Given the description of an element on the screen output the (x, y) to click on. 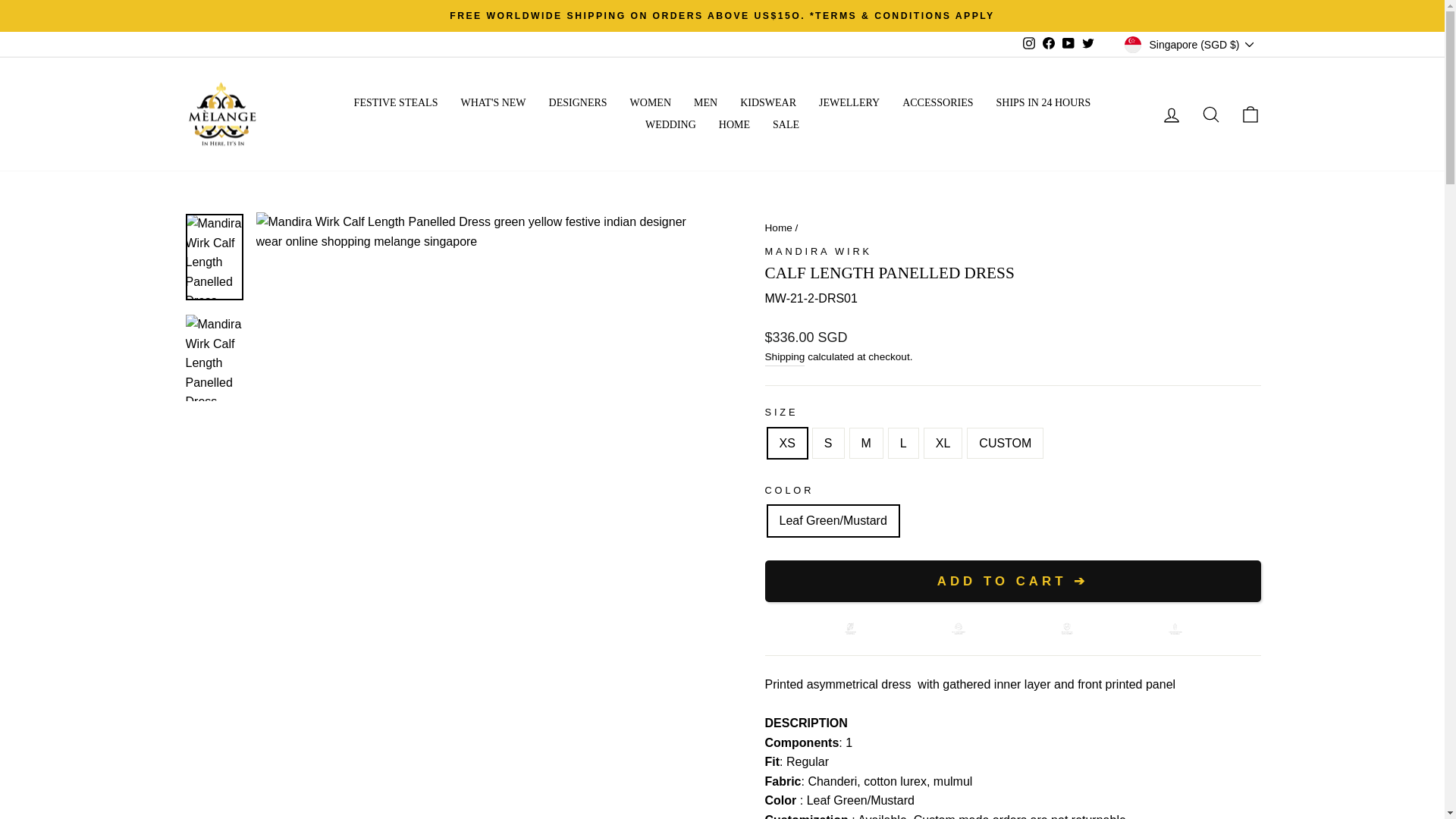
Back to the frontpage (778, 227)
